Given the description of an element on the screen output the (x, y) to click on. 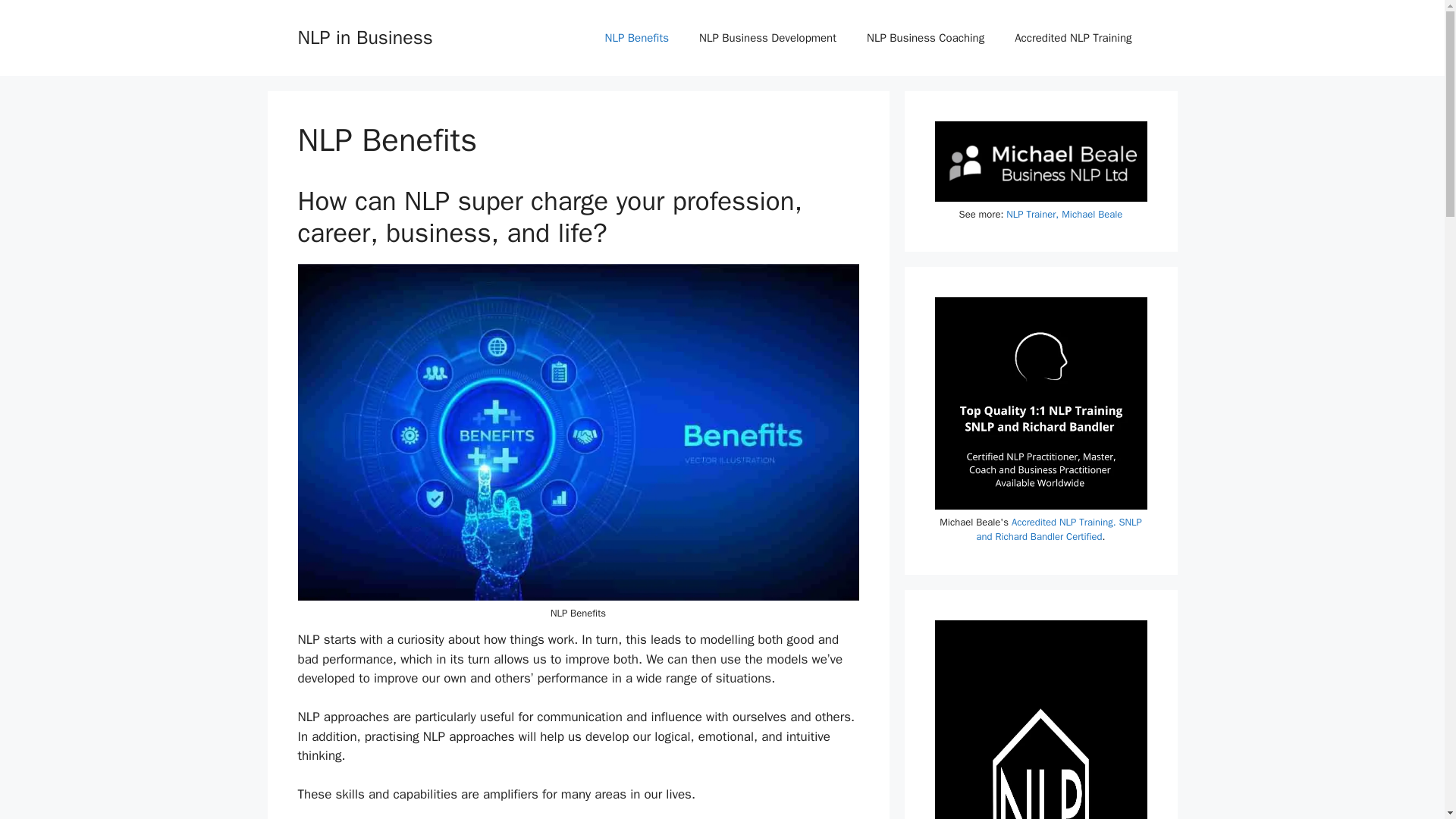
Accredited NLP Training. SNLP and Richard Bandler Certified (1058, 529)
Accredited NLP Training (1072, 37)
NLP Benefits (636, 37)
NLP in Business (364, 37)
NLP Business Development (767, 37)
NLP Business Coaching (924, 37)
NLP Trainer, Michael Beale (1064, 214)
